Given the description of an element on the screen output the (x, y) to click on. 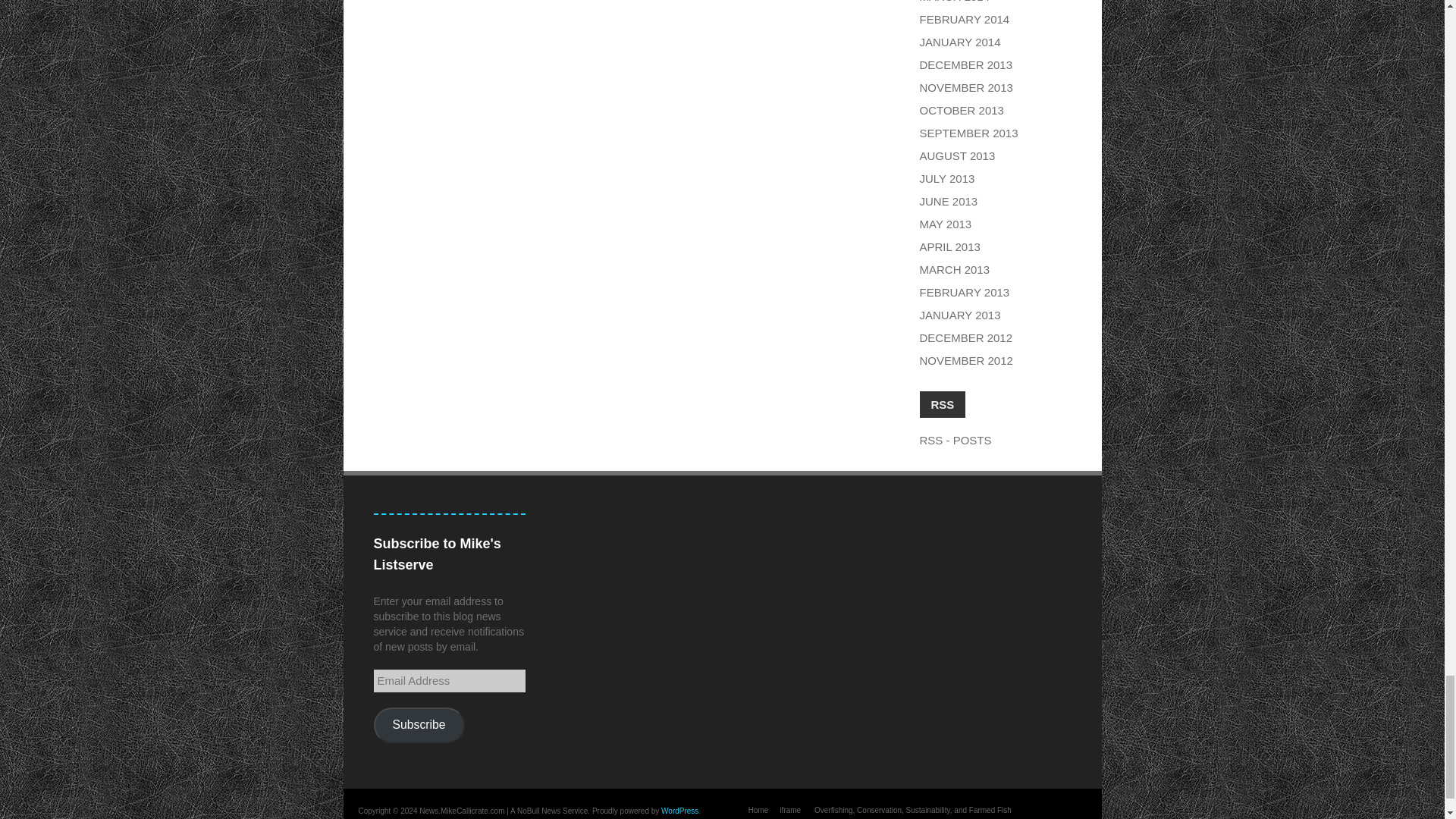
Semantic Personal Publishing Platform (679, 810)
Subscribe to posts (954, 440)
